Given the description of an element on the screen output the (x, y) to click on. 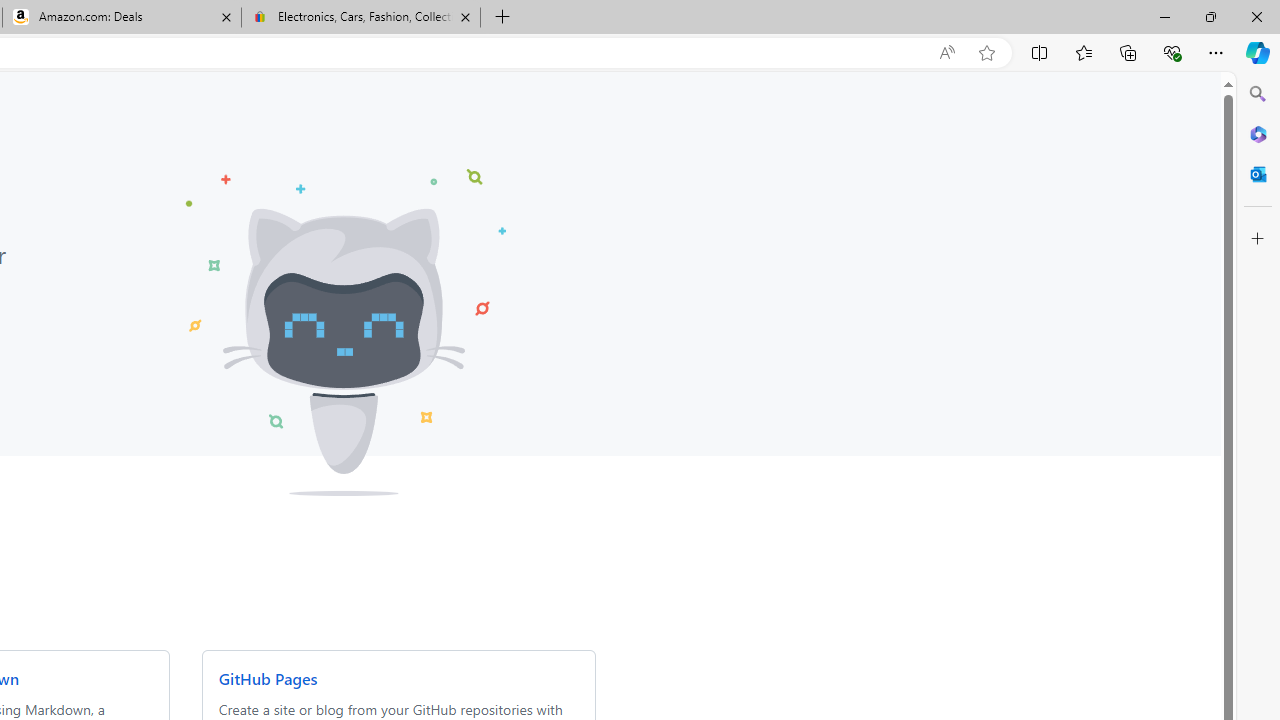
GitHub Pages (267, 678)
